Given the description of an element on the screen output the (x, y) to click on. 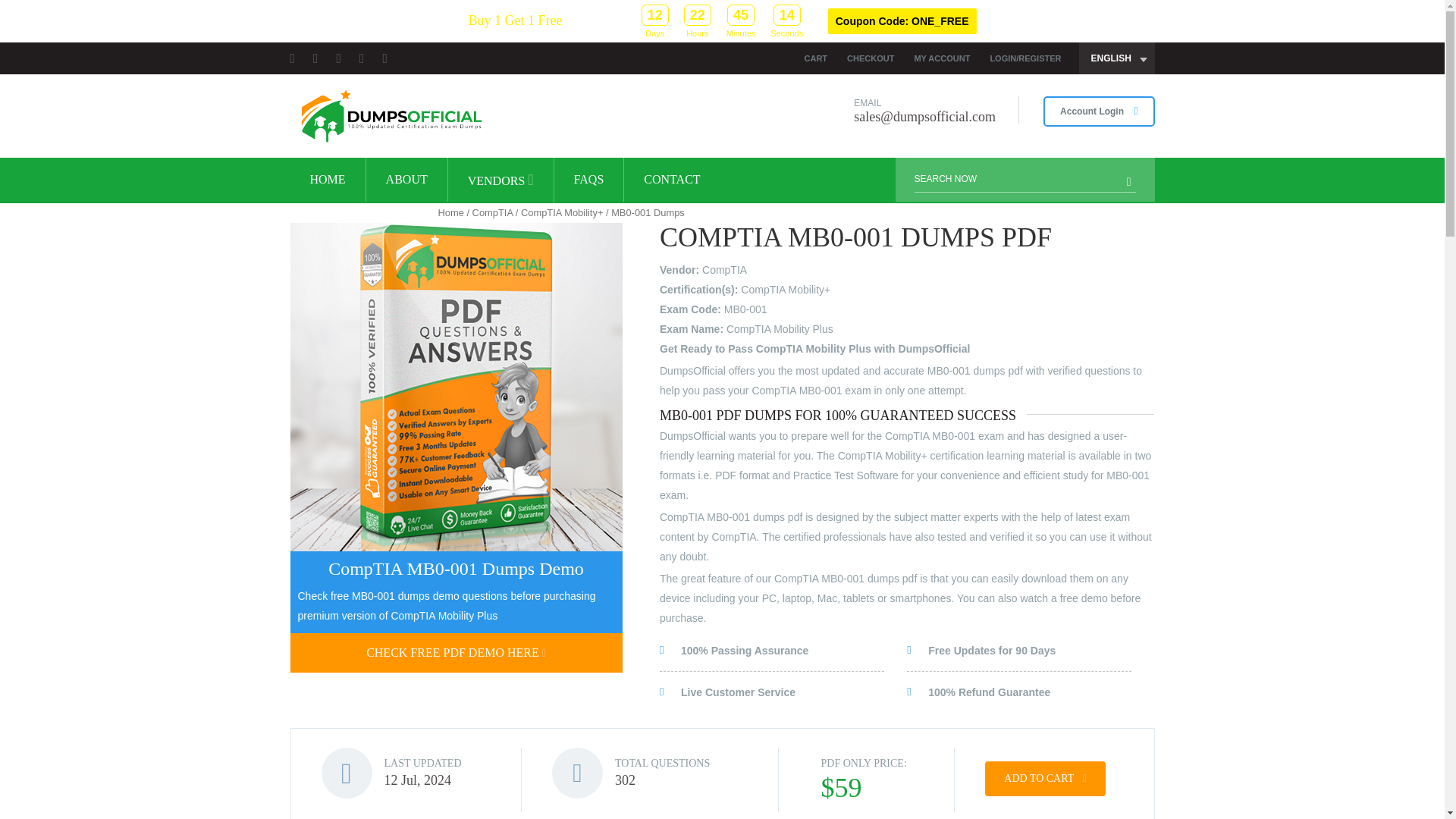
CompTIA (492, 212)
CHECKOUT (870, 58)
MY ACCOUNT (941, 58)
Home (451, 212)
CHECK FREE PDF DEMO HERE (455, 652)
ABOUT (406, 179)
CONTACT (671, 179)
CART (816, 58)
English (1116, 58)
ADD TO CART (1045, 778)
HOME (327, 179)
Dumps Official (389, 115)
FAQS (589, 179)
VENDORS (500, 180)
Account Login (1098, 111)
